Given the description of an element on the screen output the (x, y) to click on. 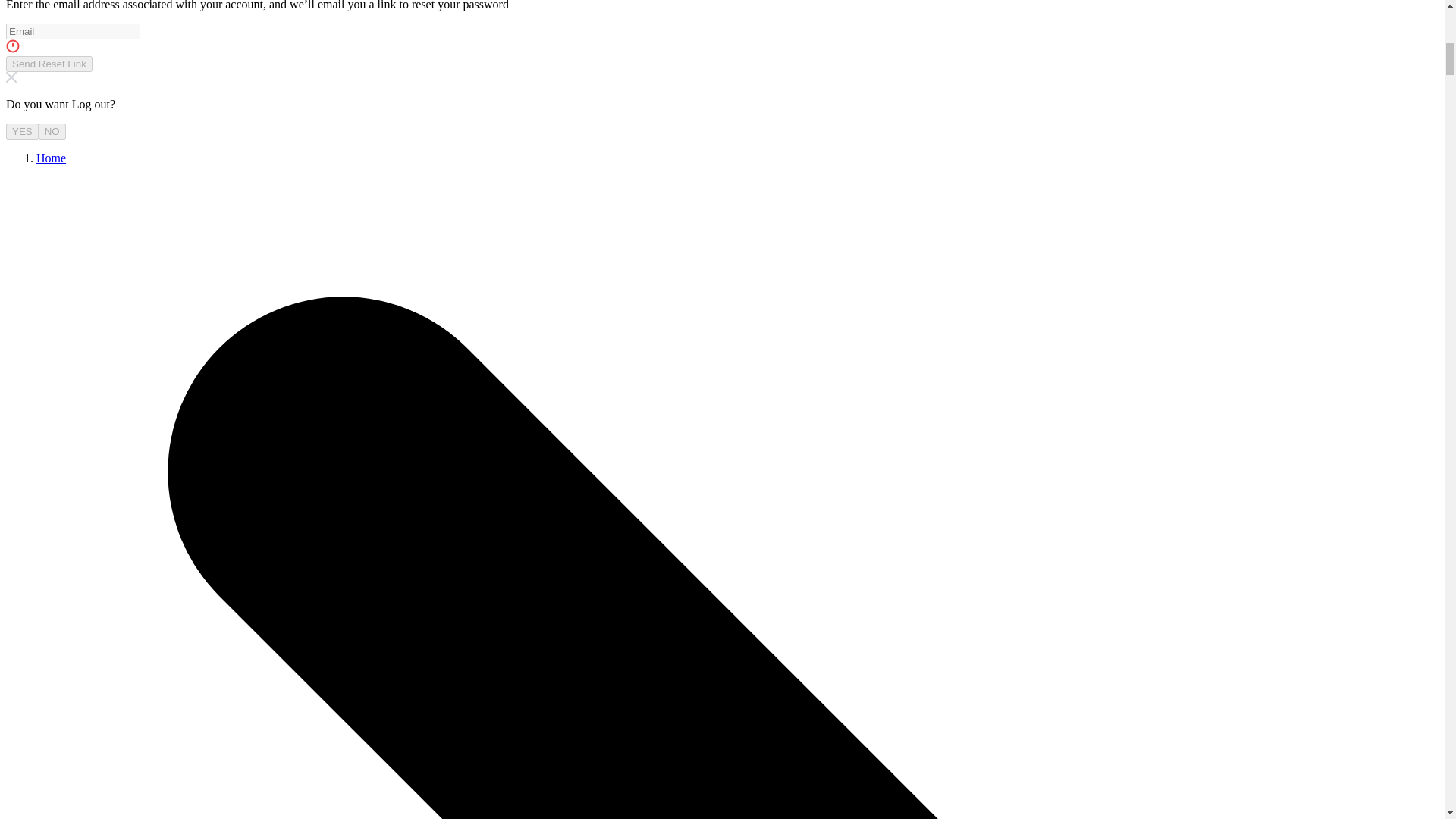
YES (22, 131)
NO (52, 131)
Send Reset Link (49, 64)
Home (50, 157)
